Given the description of an element on the screen output the (x, y) to click on. 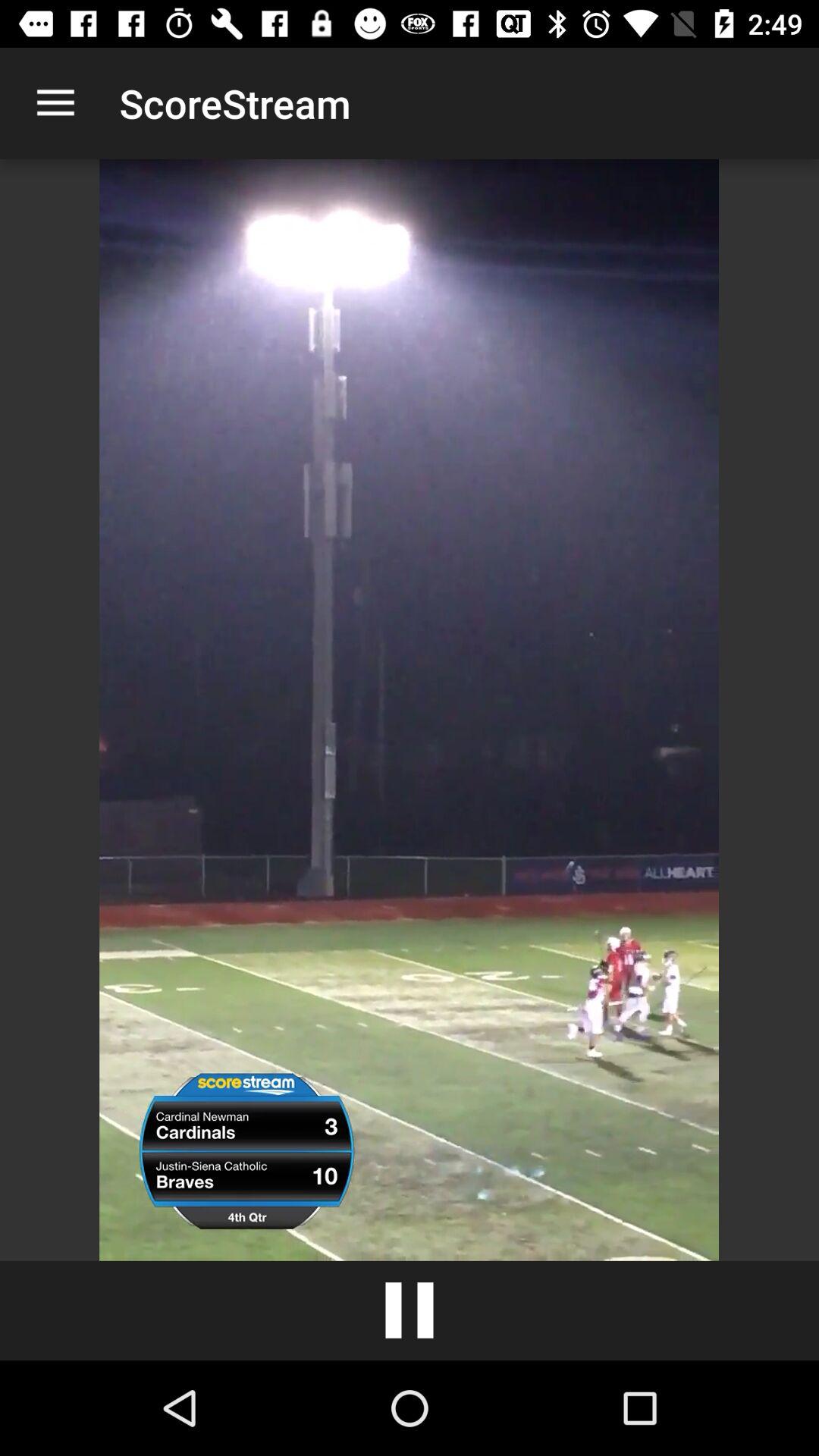
pause (409, 1310)
